Given the description of an element on the screen output the (x, y) to click on. 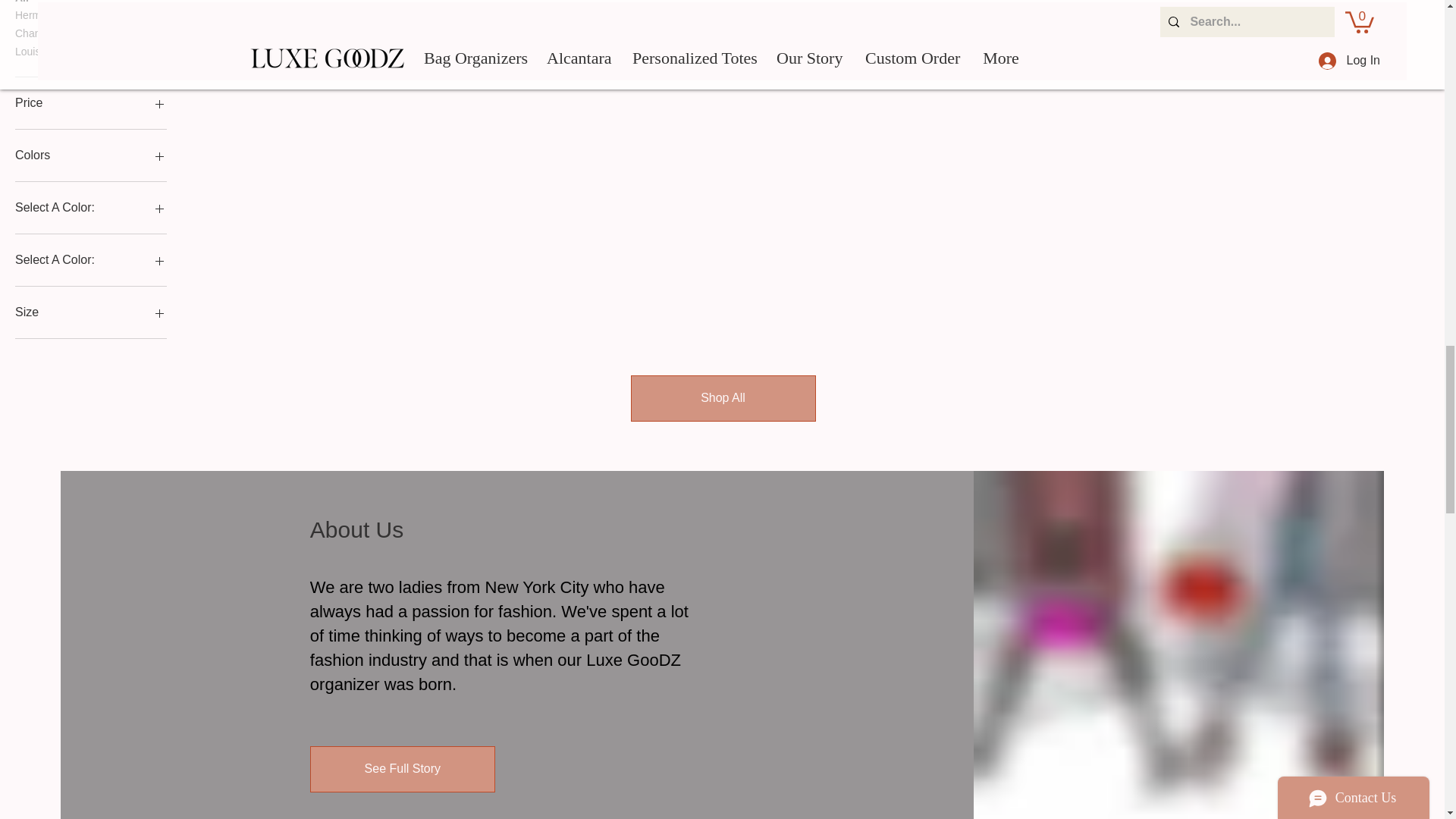
Select A Color: (90, 260)
Size (90, 312)
Colors (90, 155)
Price (90, 102)
Select A Color: (90, 207)
